Given the description of an element on the screen output the (x, y) to click on. 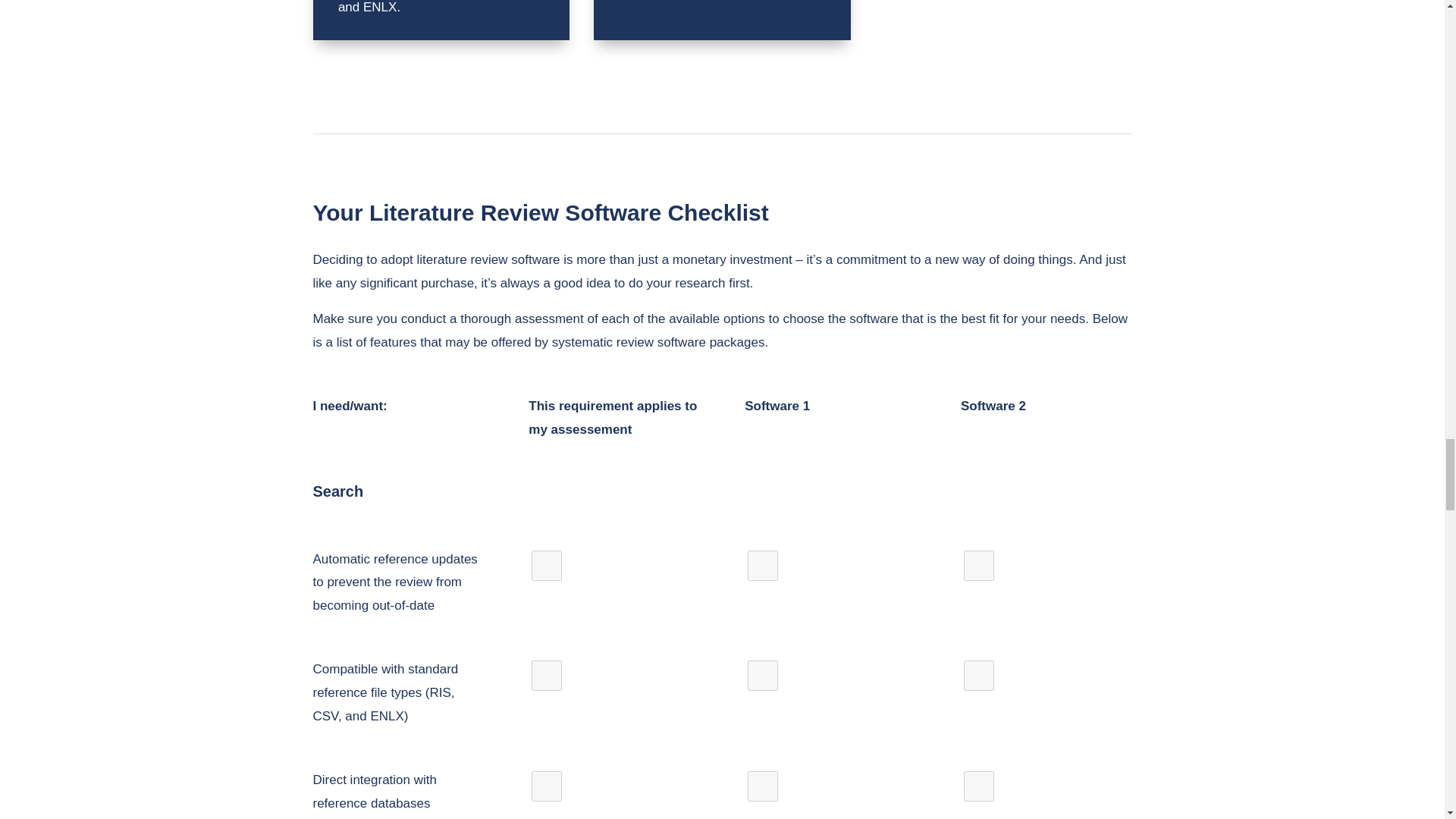
on (546, 675)
on (546, 565)
on (762, 565)
on (762, 786)
on (978, 675)
on (546, 786)
on (978, 786)
on (762, 675)
on (978, 565)
